Given the description of an element on the screen output the (x, y) to click on. 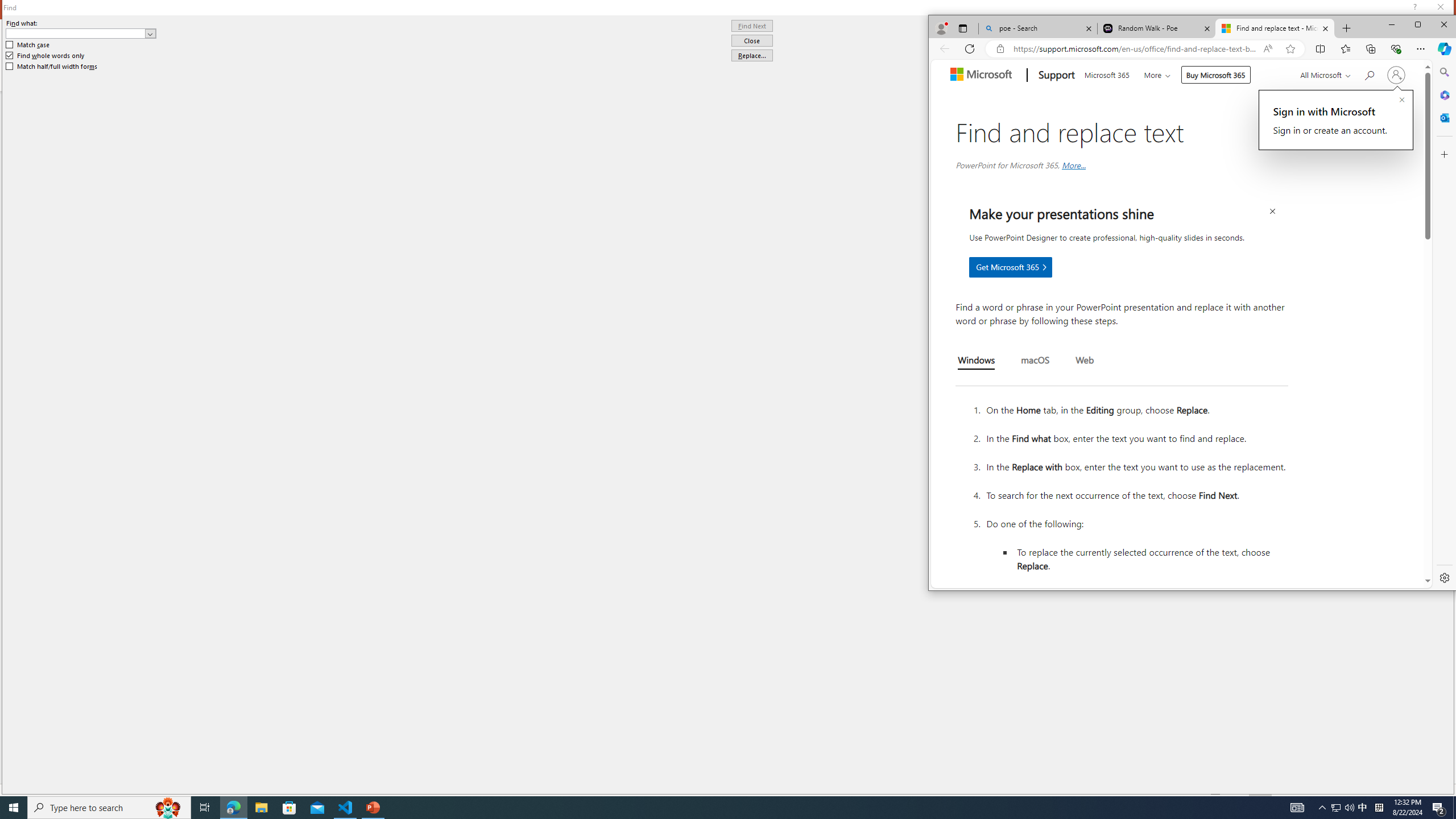
Search for help (1368, 73)
Microsoft 365 (1444, 94)
Picture Format (475, 28)
Zoom 150% (1430, 790)
Copilot (Ctrl+Shift+.) (1444, 48)
Buy Microsoft 365 (1215, 74)
